Given the description of an element on the screen output the (x, y) to click on. 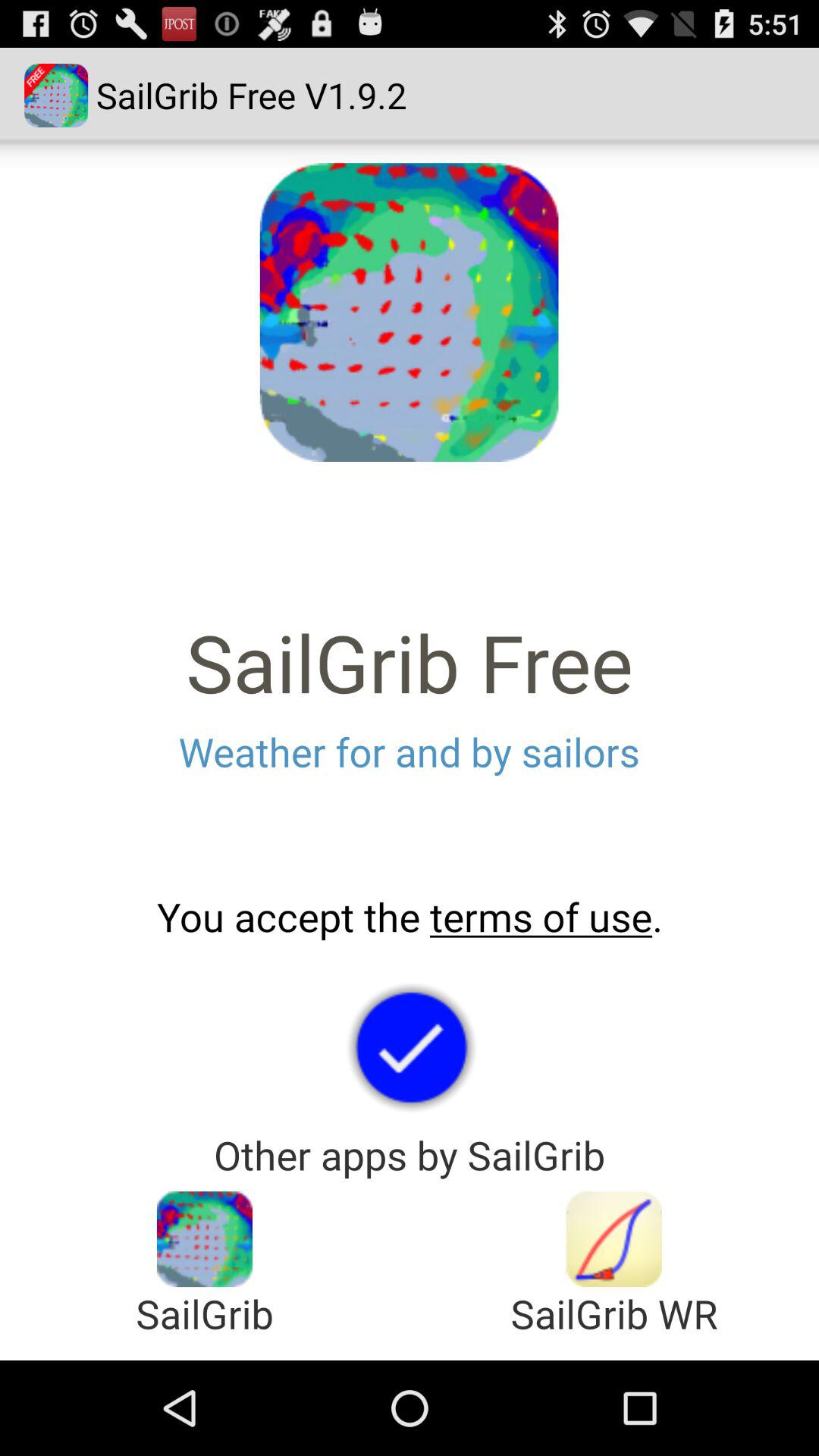
accept terms (409, 1046)
